Given the description of an element on the screen output the (x, y) to click on. 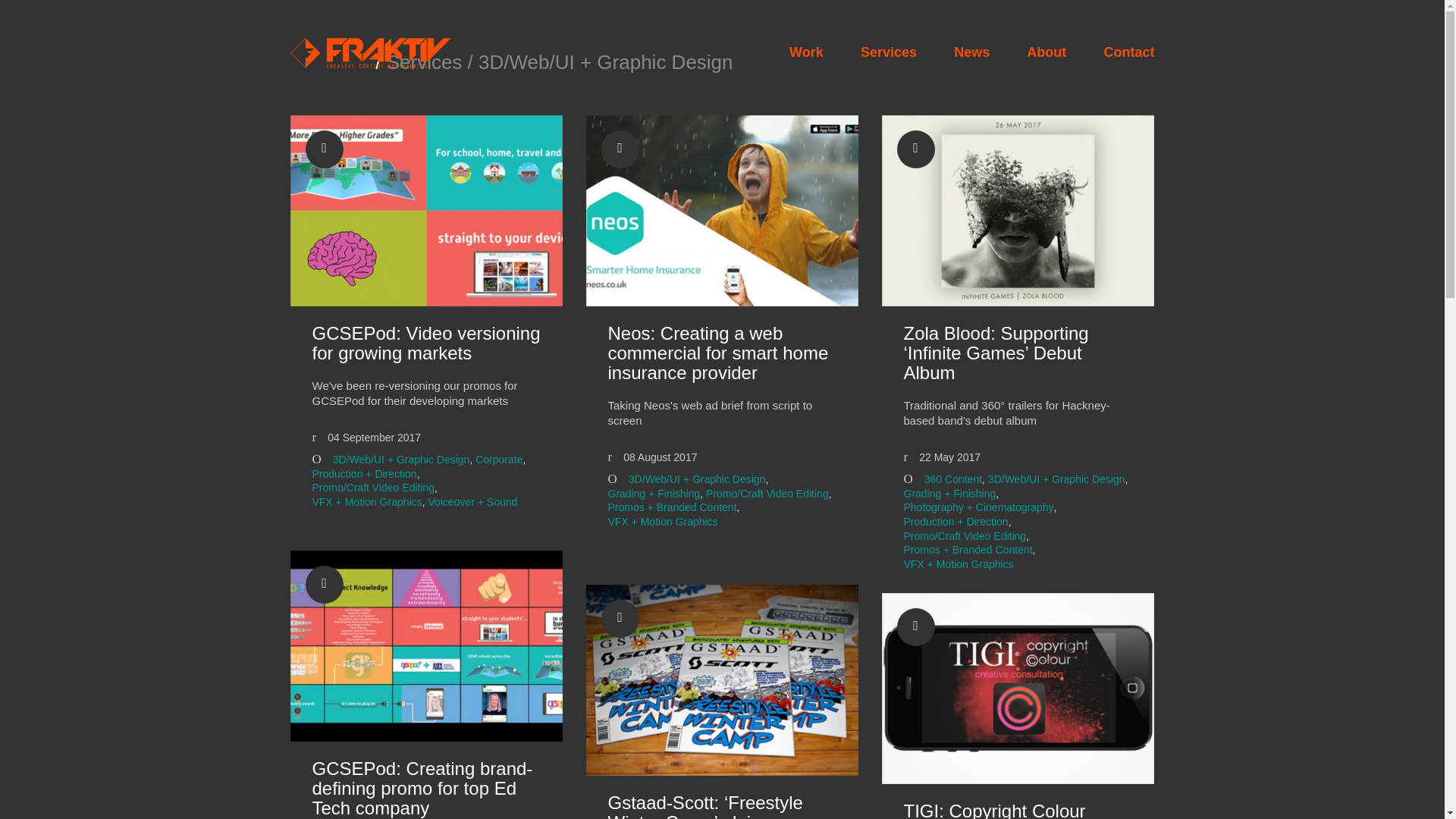
Corporate (499, 459)
Latest news (971, 53)
About (1045, 53)
News (971, 53)
Our services (888, 53)
360 Content (952, 479)
Our portfolio (806, 53)
Contact (1128, 53)
GCSEPod: Video versioning for growing markets (427, 343)
Services (888, 53)
About Fraktiv (1045, 53)
Work (806, 53)
Contact Fraktiv (1128, 53)
